Given the description of an element on the screen output the (x, y) to click on. 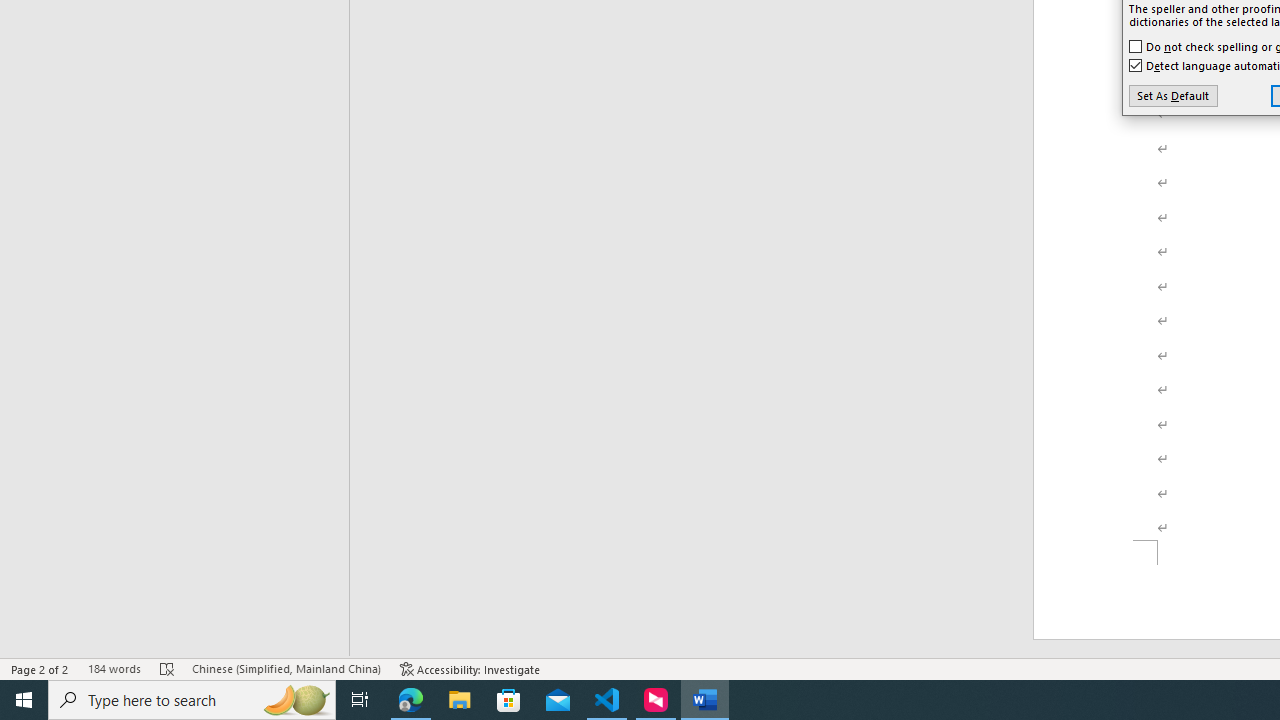
Set As Default (1172, 96)
